Given the description of an element on the screen output the (x, y) to click on. 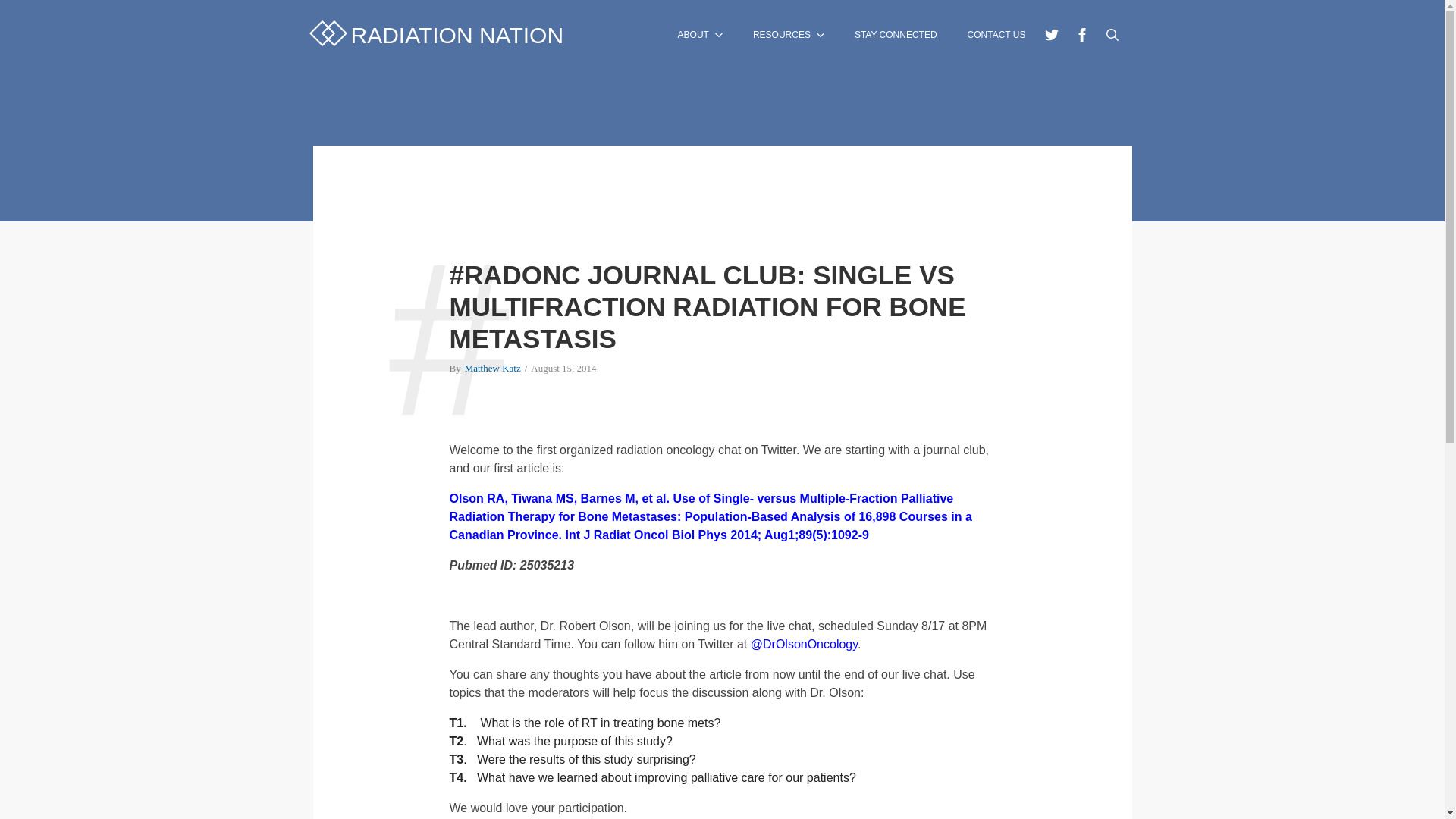
ABOUT (685, 34)
RADIATION NATION (438, 35)
STAY CONNECTED (896, 34)
CONTACT US (996, 34)
RESOURCES (774, 34)
Posts by Matthew Katz (492, 368)
